Given the description of an element on the screen output the (x, y) to click on. 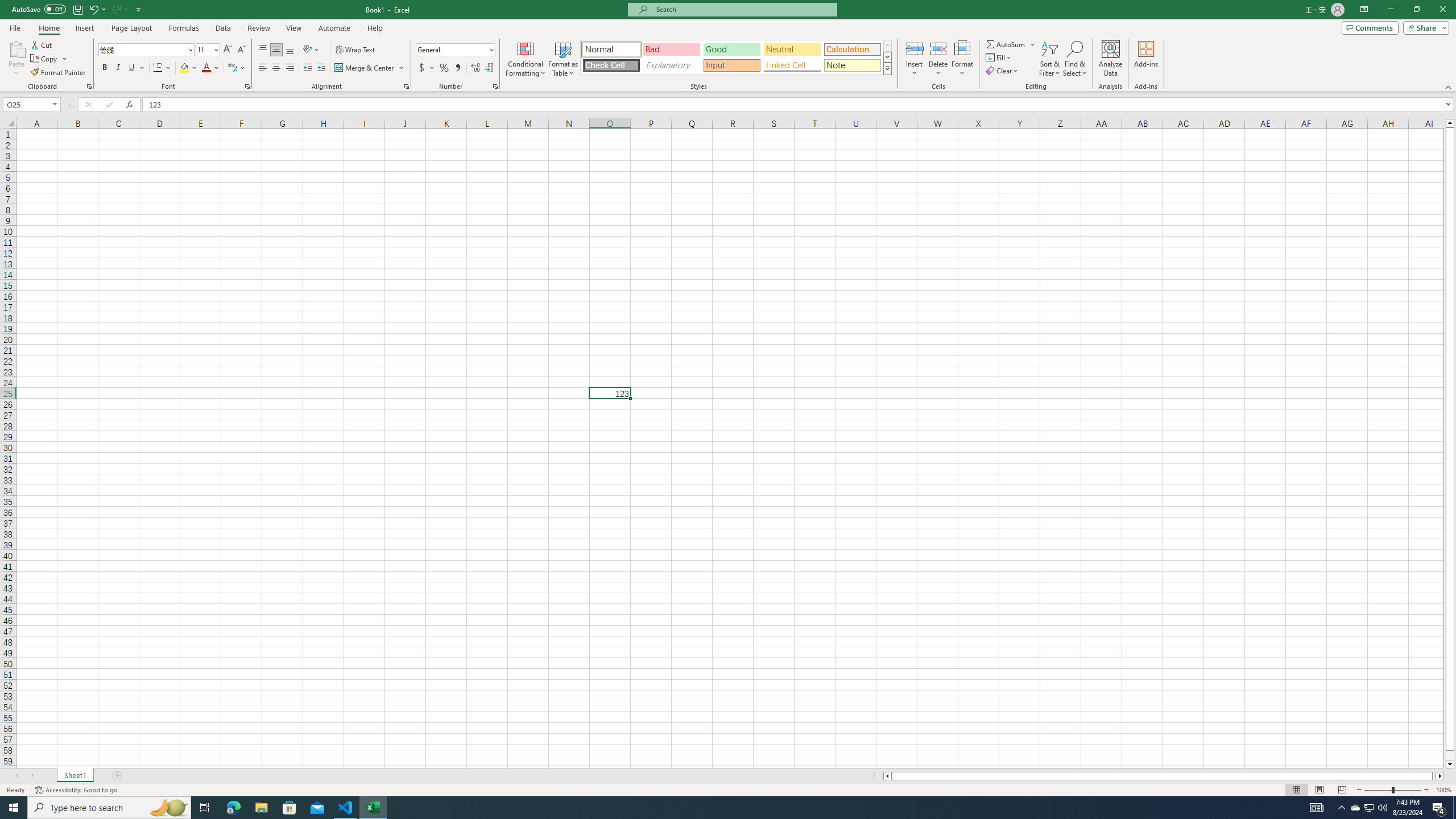
Column right (1440, 775)
Underline (136, 67)
More Options (1033, 44)
Format Cell Alignment (405, 85)
Clear (1003, 69)
AutoSum (1011, 44)
Collapse the Ribbon (1448, 86)
Quick Access Toolbar (77, 9)
Row up (887, 45)
Automate (334, 28)
Percent Style (443, 67)
Row Down (887, 56)
Decrease Font Size (240, 49)
